Given the description of an element on the screen output the (x, y) to click on. 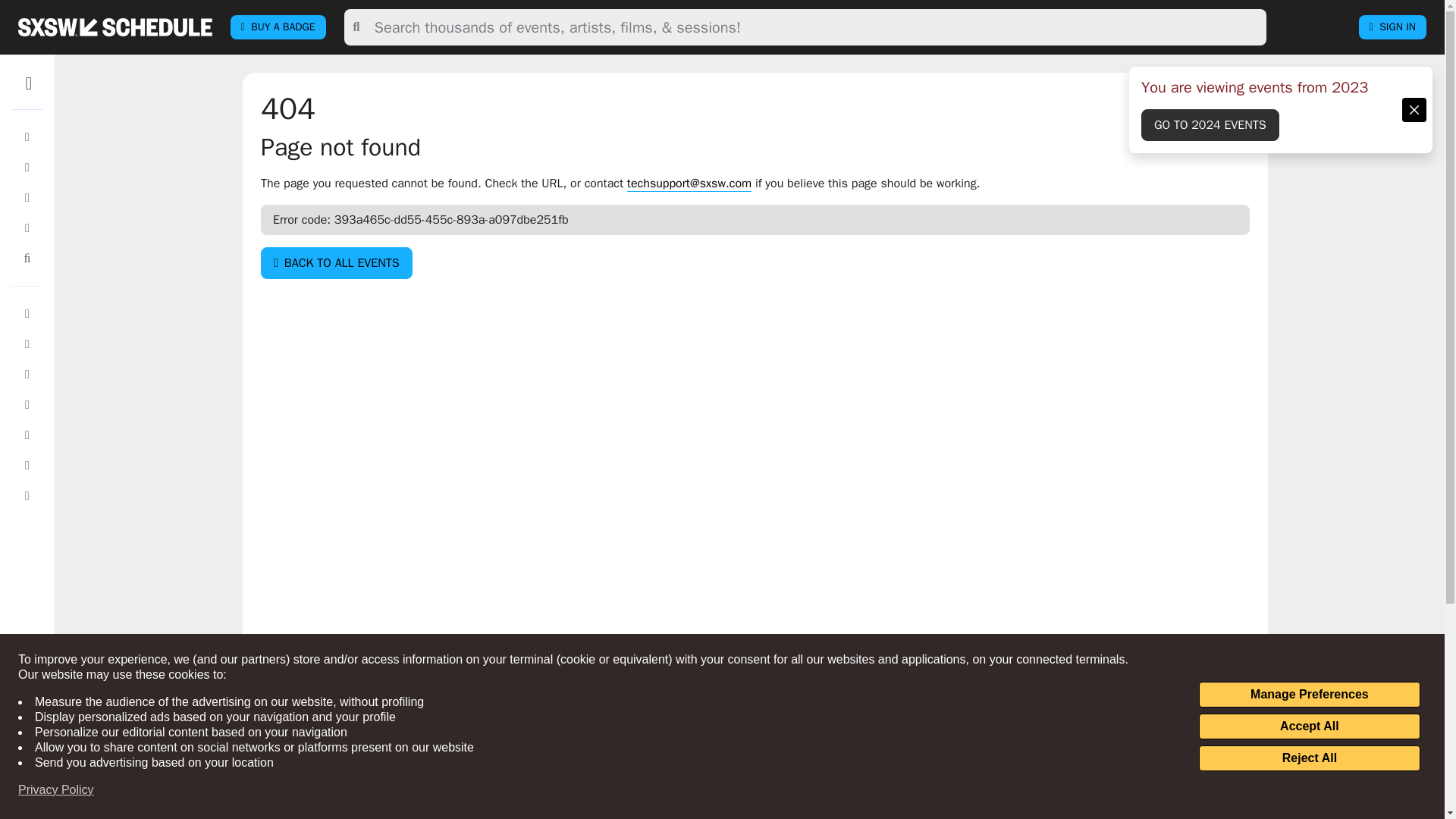
Privacy Policy (55, 789)
sxsw SCHEDULE (114, 27)
BUY A BADGE (278, 27)
SIGN IN (1392, 27)
Accept All (1309, 726)
Reject All (1309, 758)
Manage Preferences (1309, 694)
GO TO 2024 EVENTS (1210, 124)
